Given the description of an element on the screen output the (x, y) to click on. 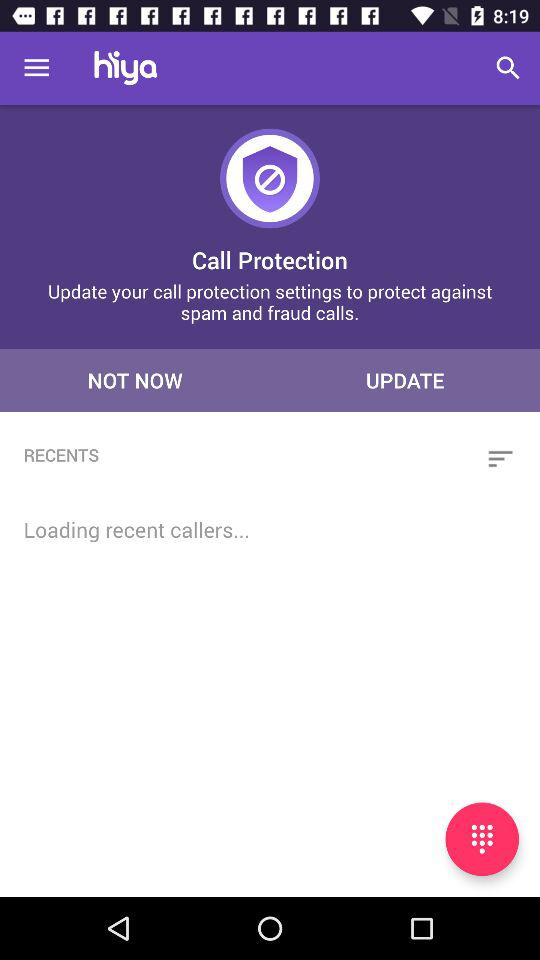
open keypad (482, 839)
